Given the description of an element on the screen output the (x, y) to click on. 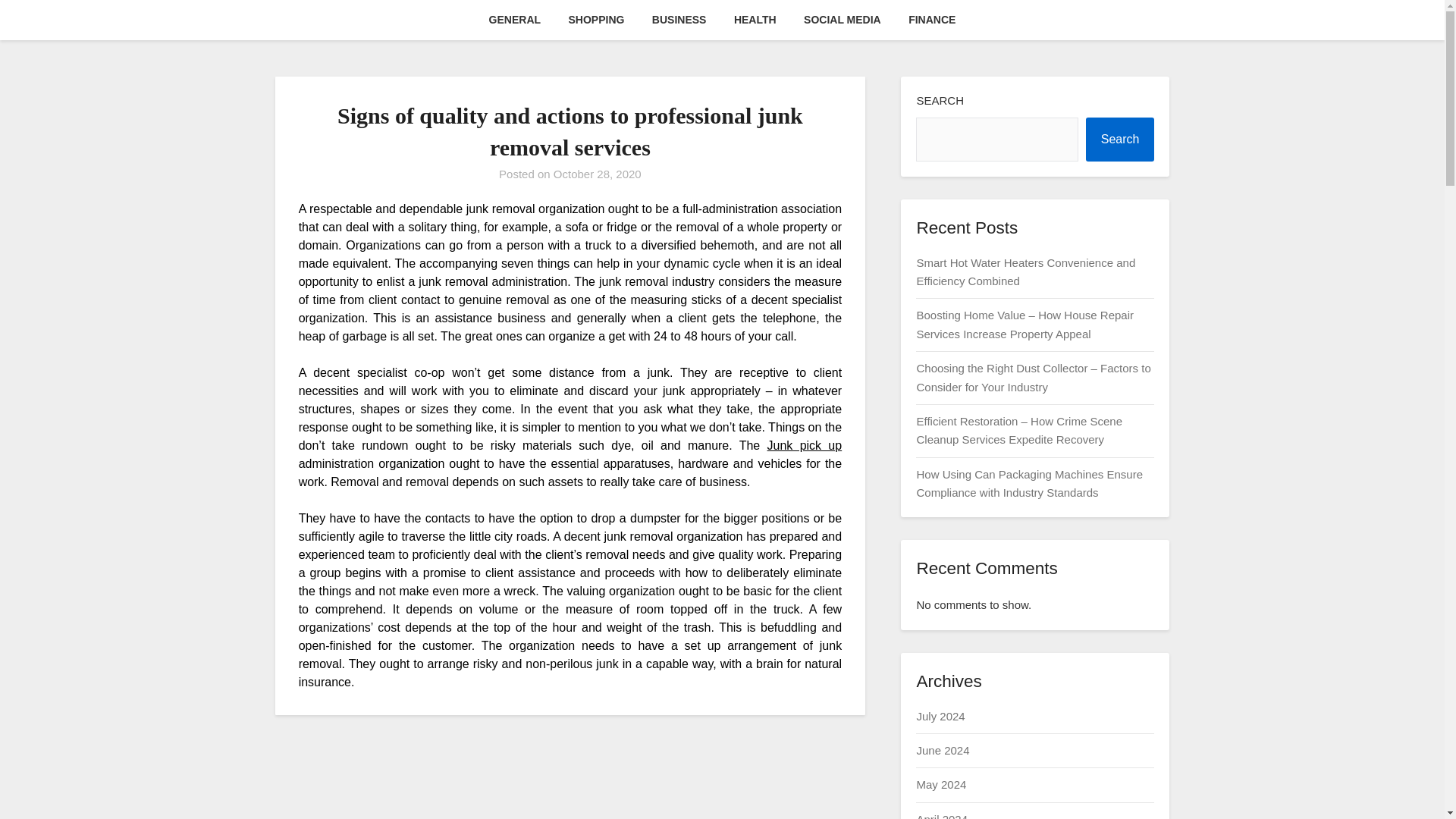
SOCIAL MEDIA (842, 20)
July 2024 (939, 716)
October 28, 2020 (597, 173)
June 2024 (942, 749)
April 2024 (941, 816)
FINANCE (932, 20)
Search (1120, 139)
Junk pick up (805, 445)
Smart Hot Water Heaters Convenience and Efficiency Combined (1025, 271)
BUSINESS (679, 20)
May 2024 (940, 784)
GENERAL (515, 20)
SHOPPING (596, 20)
HEALTH (755, 20)
